Given the description of an element on the screen output the (x, y) to click on. 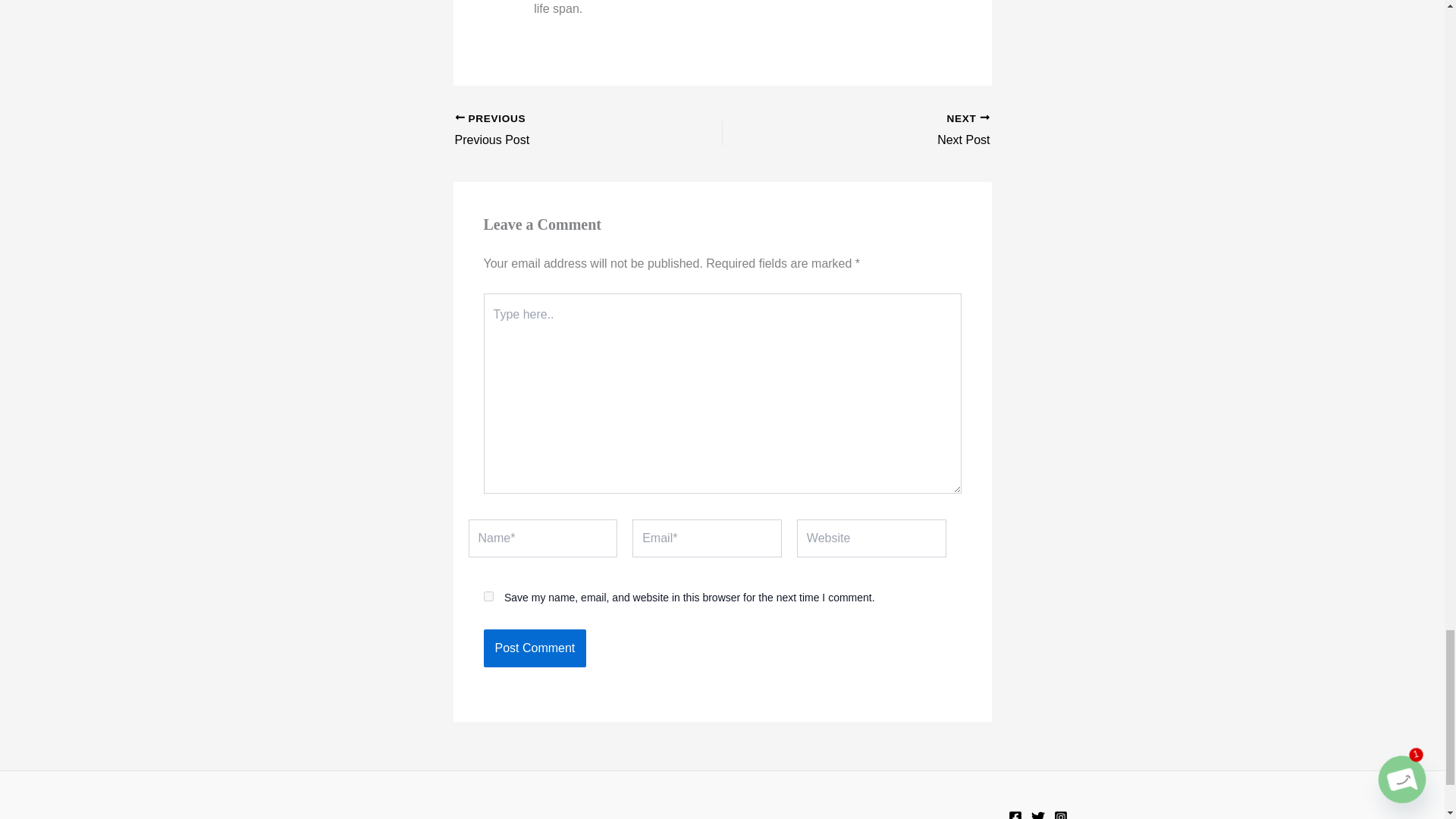
Post Comment (534, 648)
yes (882, 129)
Post Comment (488, 596)
